Given the description of an element on the screen output the (x, y) to click on. 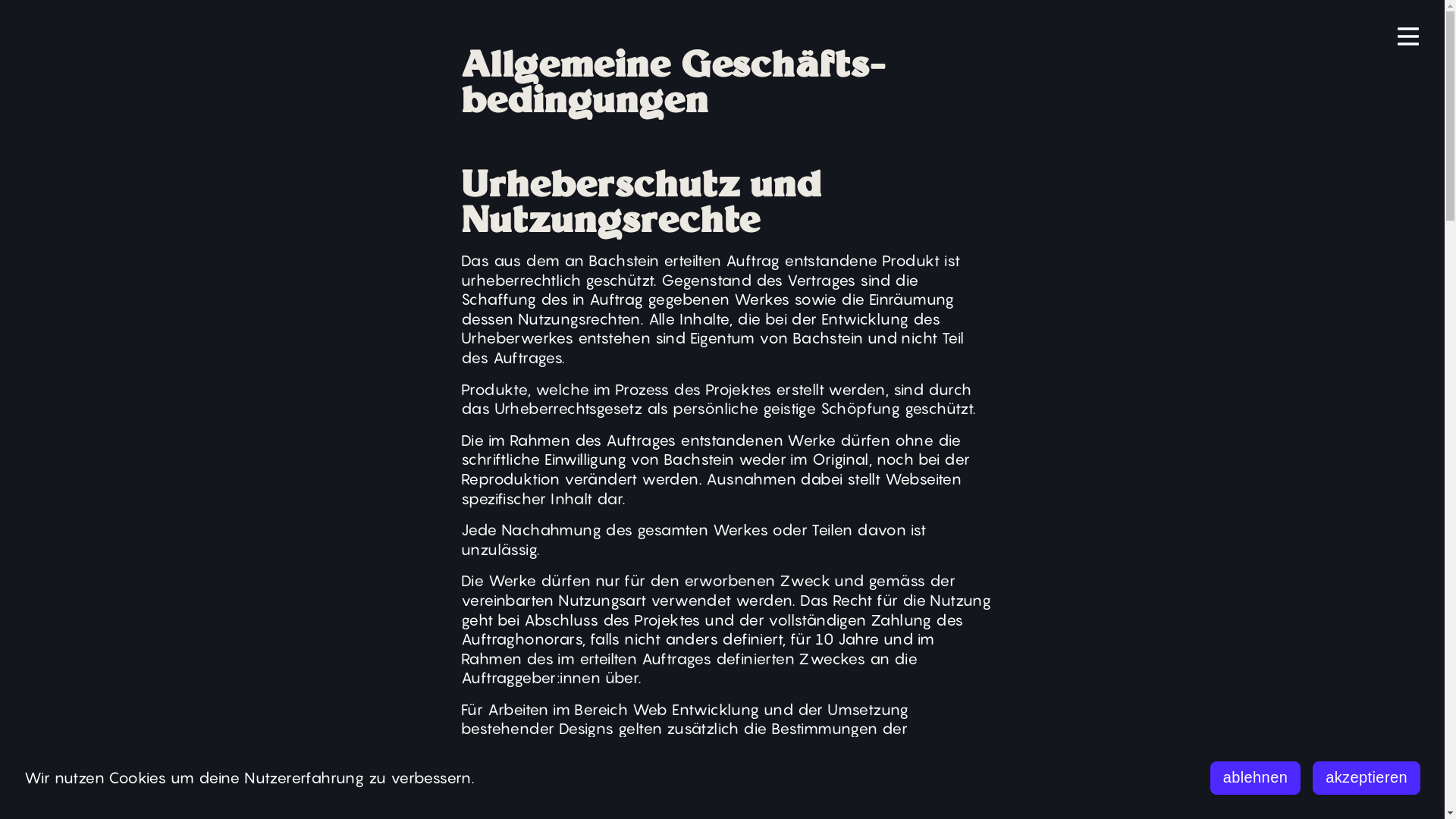
ablehnen Element type: text (1255, 777)
Datenschutz Element type: text (1371, 700)
AGBs Element type: text (1398, 728)
akzeptieren Element type: text (1366, 777)
Impressum Element type: text (1378, 714)
mail@bachstein.ch Element type: text (93, 759)
